Given the description of an element on the screen output the (x, y) to click on. 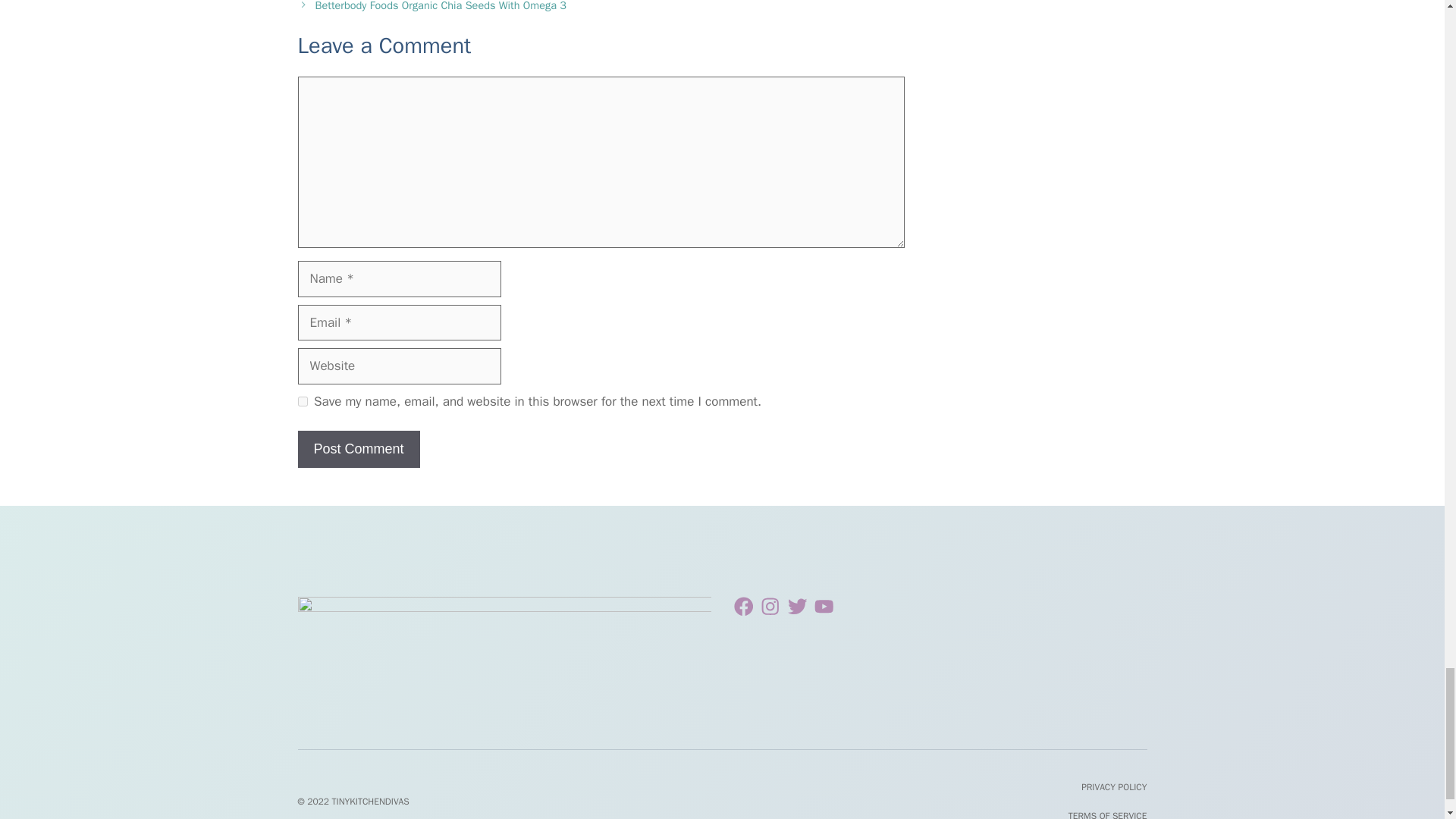
Betterbody Foods Organic Chia Seeds With Omega 3 (440, 6)
Post Comment (358, 448)
Post Comment (358, 448)
yes (302, 401)
